Given the description of an element on the screen output the (x, y) to click on. 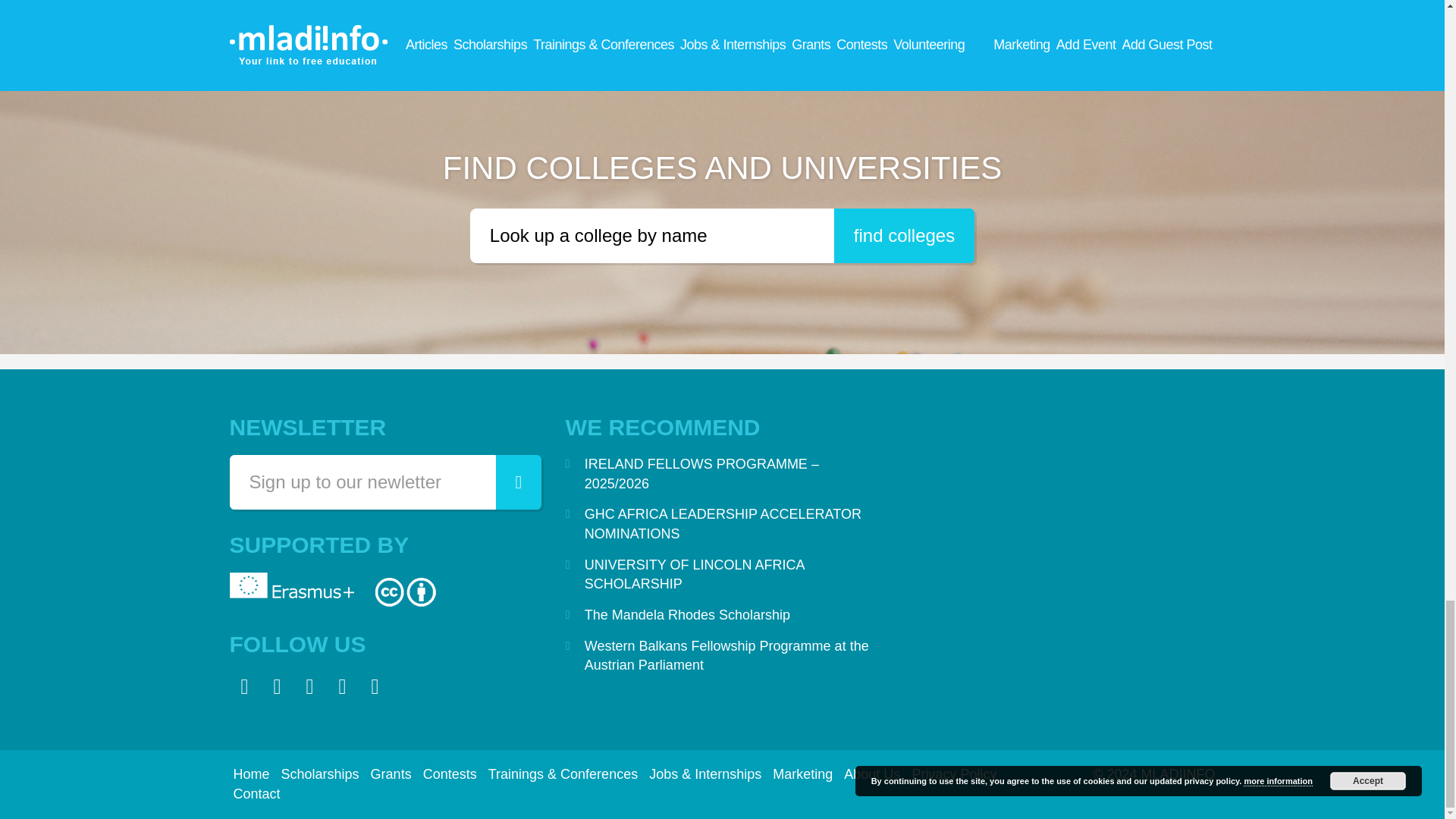
find colleges (904, 235)
Look up a college by name (652, 235)
